Given the description of an element on the screen output the (x, y) to click on. 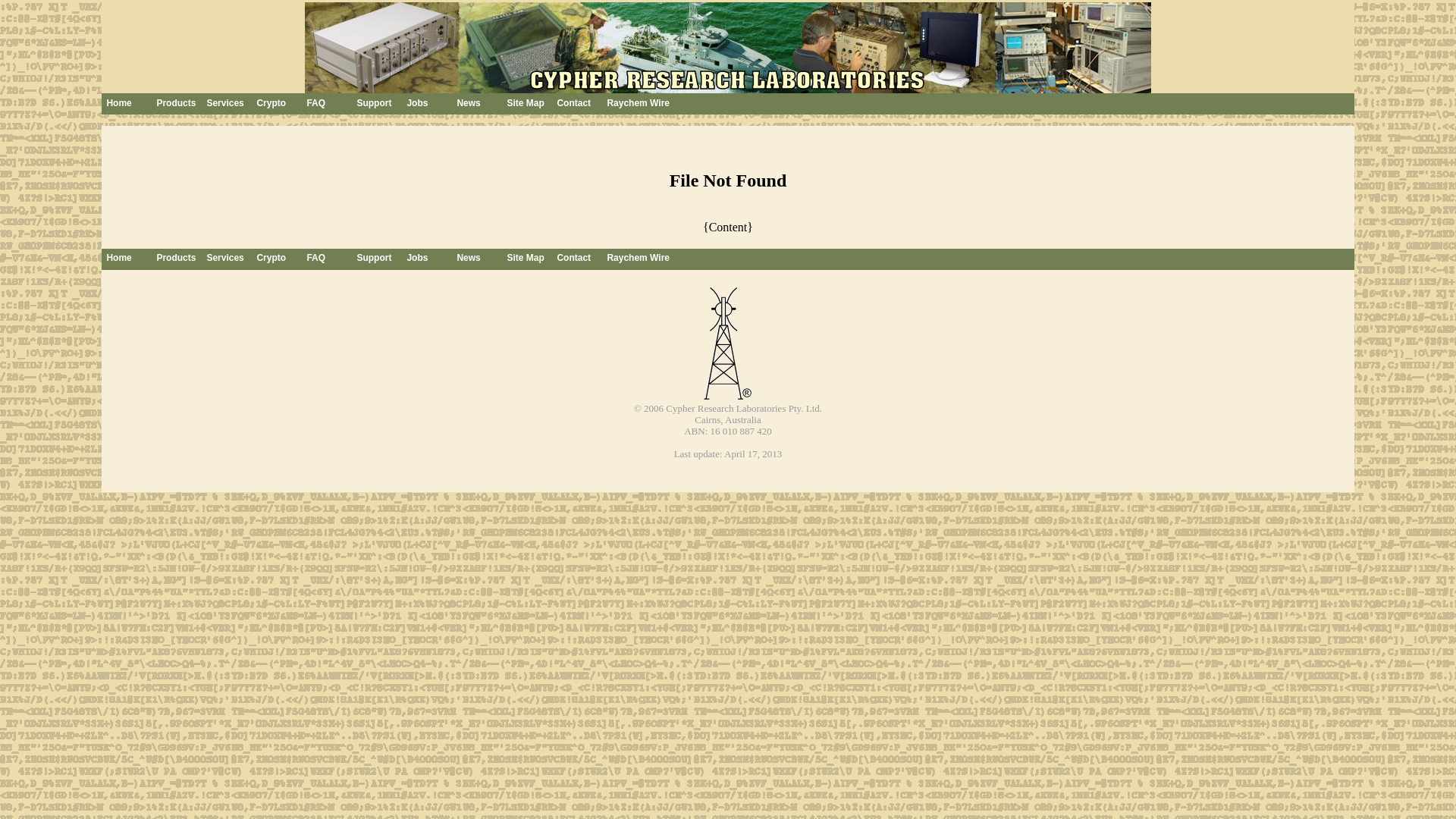
Services Element type: text (250, 103)
Support Element type: text (378, 259)
FAQ Element type: text (350, 103)
Products Element type: text (200, 103)
Support Element type: text (400, 103)
Home Element type: text (150, 103)
Site Map Element type: text (551, 103)
Crypto Element type: text (300, 103)
Site Map Element type: text (528, 259)
FAQ Element type: text (328, 259)
Contact Element type: text (578, 259)
Contact Element type: text (601, 103)
News Element type: text (478, 259)
Raychem Wire Element type: text (643, 259)
Jobs Element type: text (428, 259)
Jobs Element type: text (450, 103)
Services Element type: text (228, 259)
Raychem Wire Element type: text (651, 103)
Crypto Element type: text (278, 259)
Home Element type: text (128, 259)
Cypher Research Laboratories Element type: text (725, 407)
Products Element type: text (178, 259)
News Element type: text (501, 103)
